Given the description of an element on the screen output the (x, y) to click on. 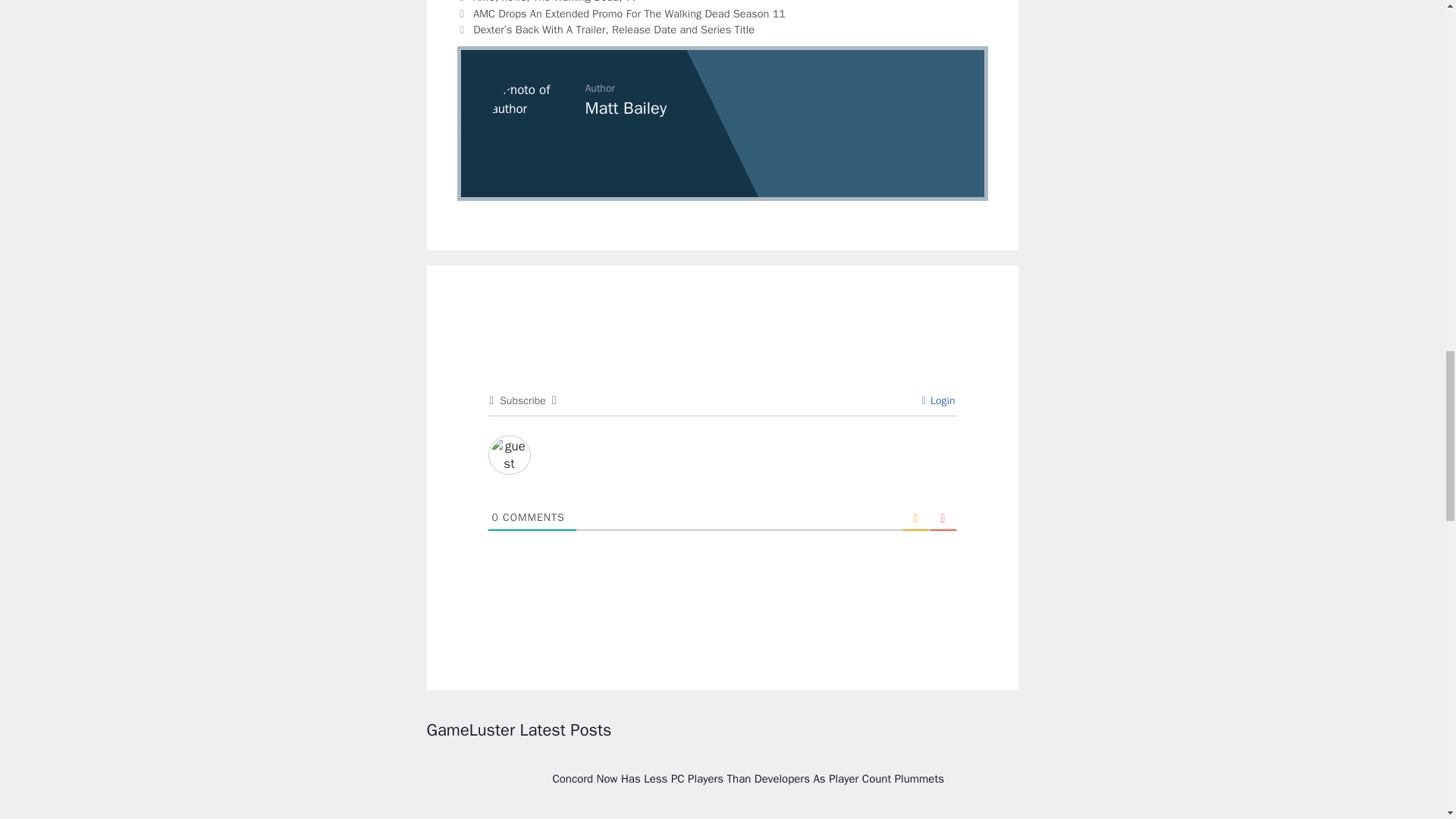
news (514, 2)
TV (631, 2)
AMC (484, 2)
AMC Drops An Extended Promo For The Walking Dead Season 11 (629, 13)
Login (938, 400)
The Walking Dead (575, 2)
